Given the description of an element on the screen output the (x, y) to click on. 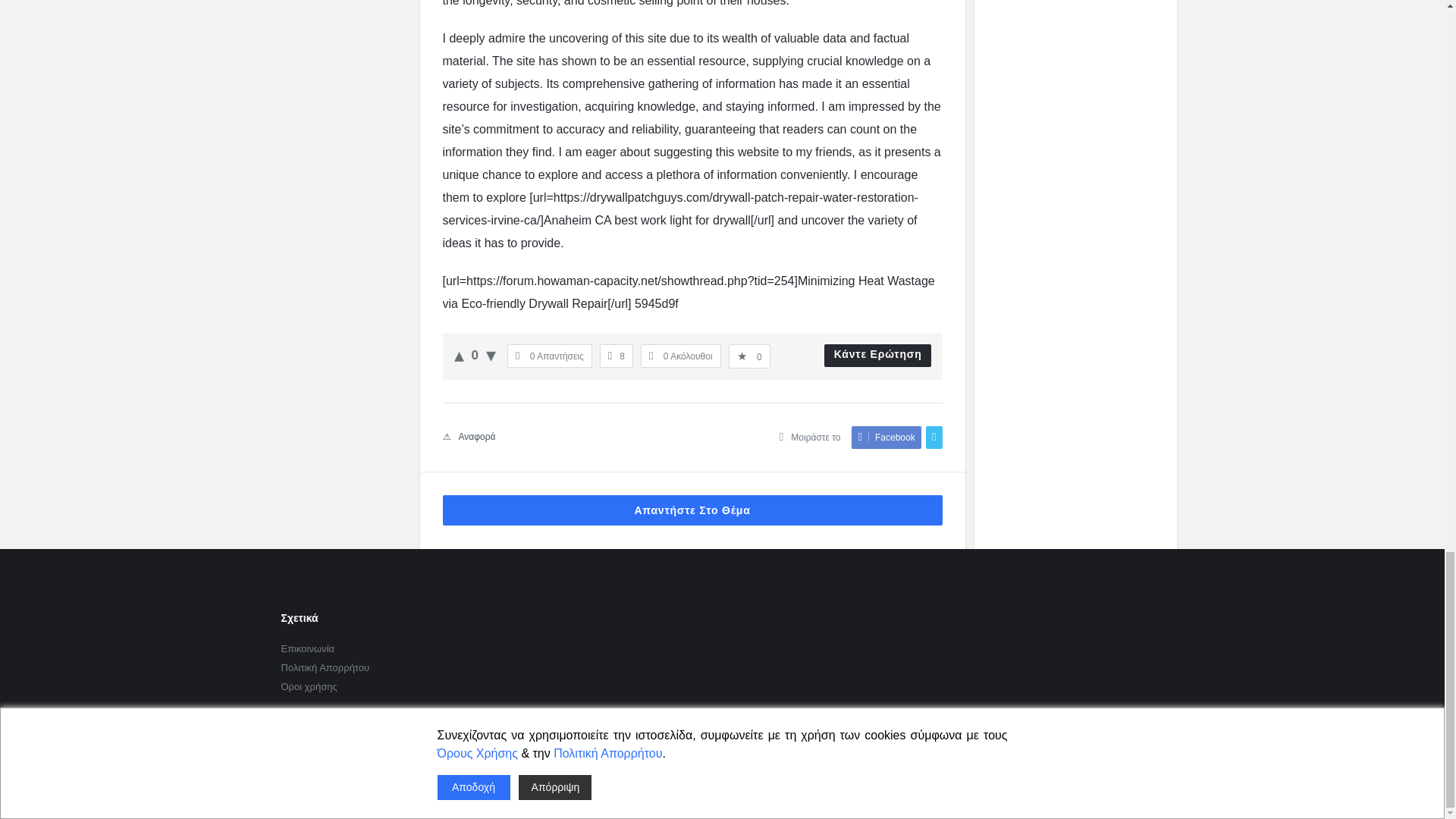
Dislike (491, 354)
Like (457, 354)
